Given the description of an element on the screen output the (x, y) to click on. 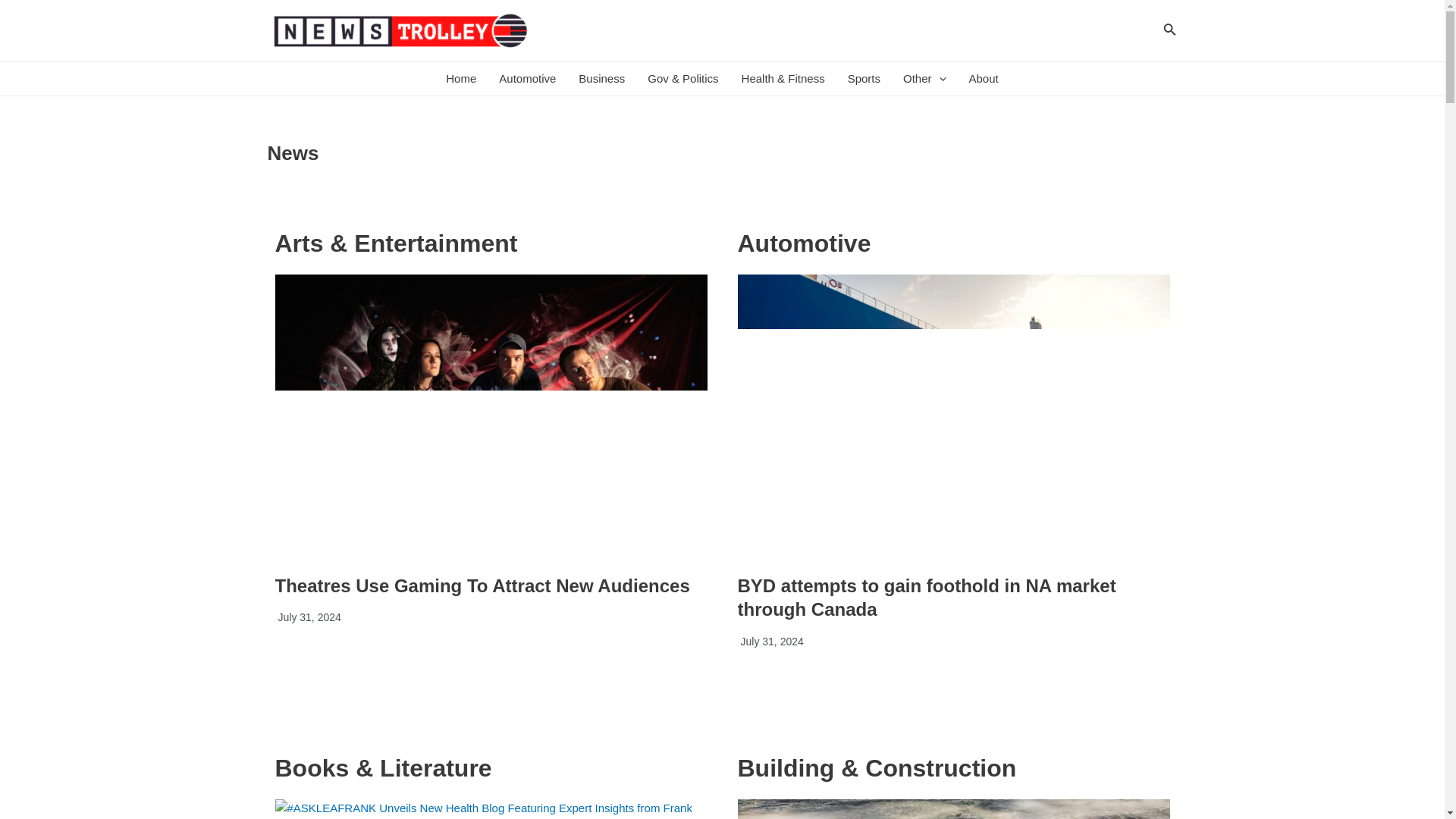
Other (924, 78)
Home (460, 78)
Automotive (527, 78)
Business (601, 78)
Sports (863, 78)
About (984, 78)
